Given the description of an element on the screen output the (x, y) to click on. 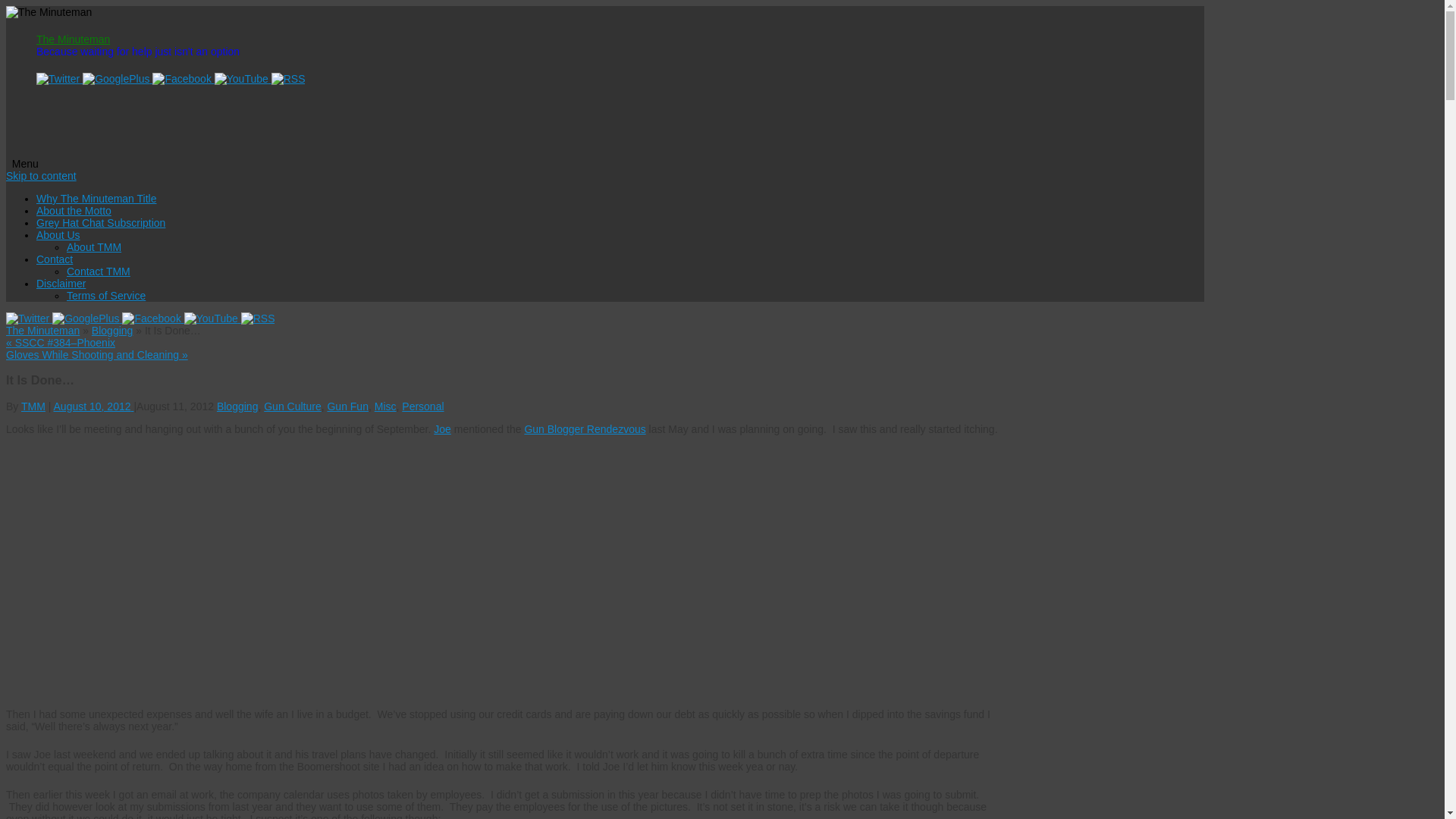
GooglePlus (117, 78)
Skip to content (41, 175)
Skip to content (41, 175)
Twitter (59, 78)
YouTube (212, 318)
Gun Blogger Rendezvous (584, 428)
Contact (54, 259)
The Minuteman (73, 39)
RSS (258, 318)
Blogging (237, 406)
Facebook (152, 318)
About the Motto (74, 210)
Why The Minuteman Title (95, 198)
Gun Fun (347, 406)
YouTube (242, 78)
